Given the description of an element on the screen output the (x, y) to click on. 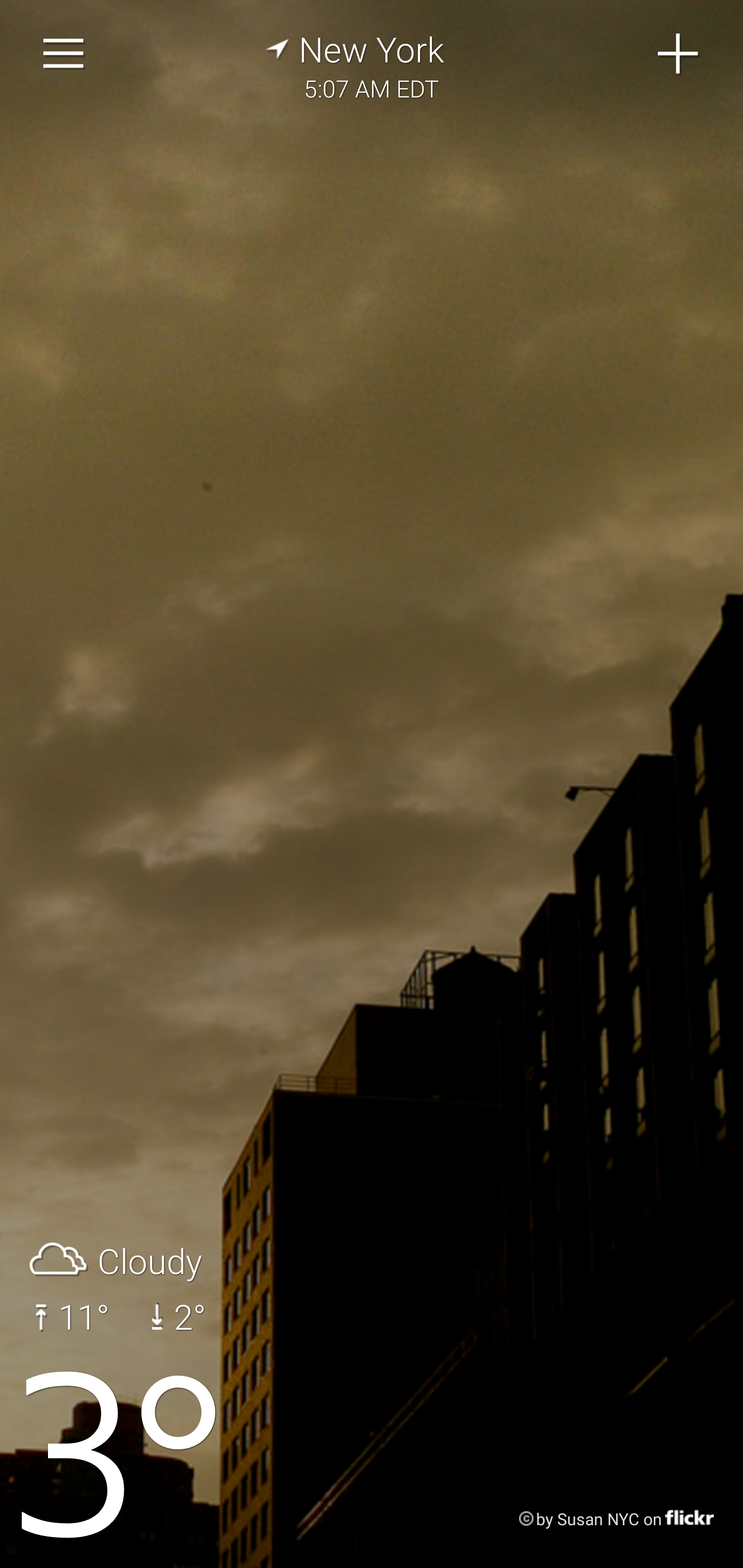
Sidebar (64, 54)
Add City (678, 53)
